Given the description of an element on the screen output the (x, y) to click on. 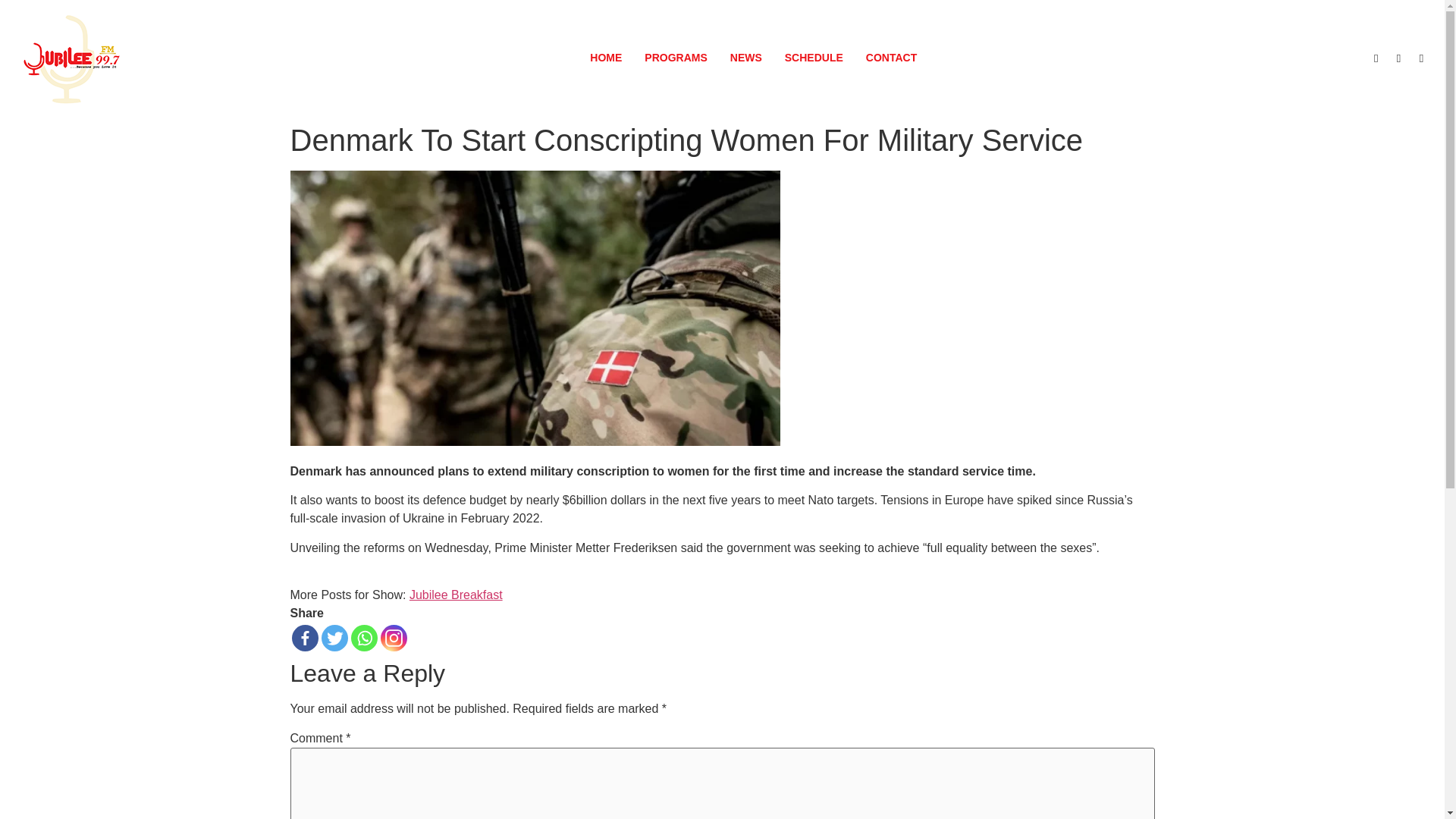
Twitter (334, 637)
NEWS (746, 57)
SCHEDULE (813, 57)
Facebook (304, 637)
HOME (605, 57)
CONTACT (891, 57)
Whatsapp (363, 637)
Jubilee Breakfast (455, 594)
Instagram (393, 637)
PROGRAMS (675, 57)
